Given the description of an element on the screen output the (x, y) to click on. 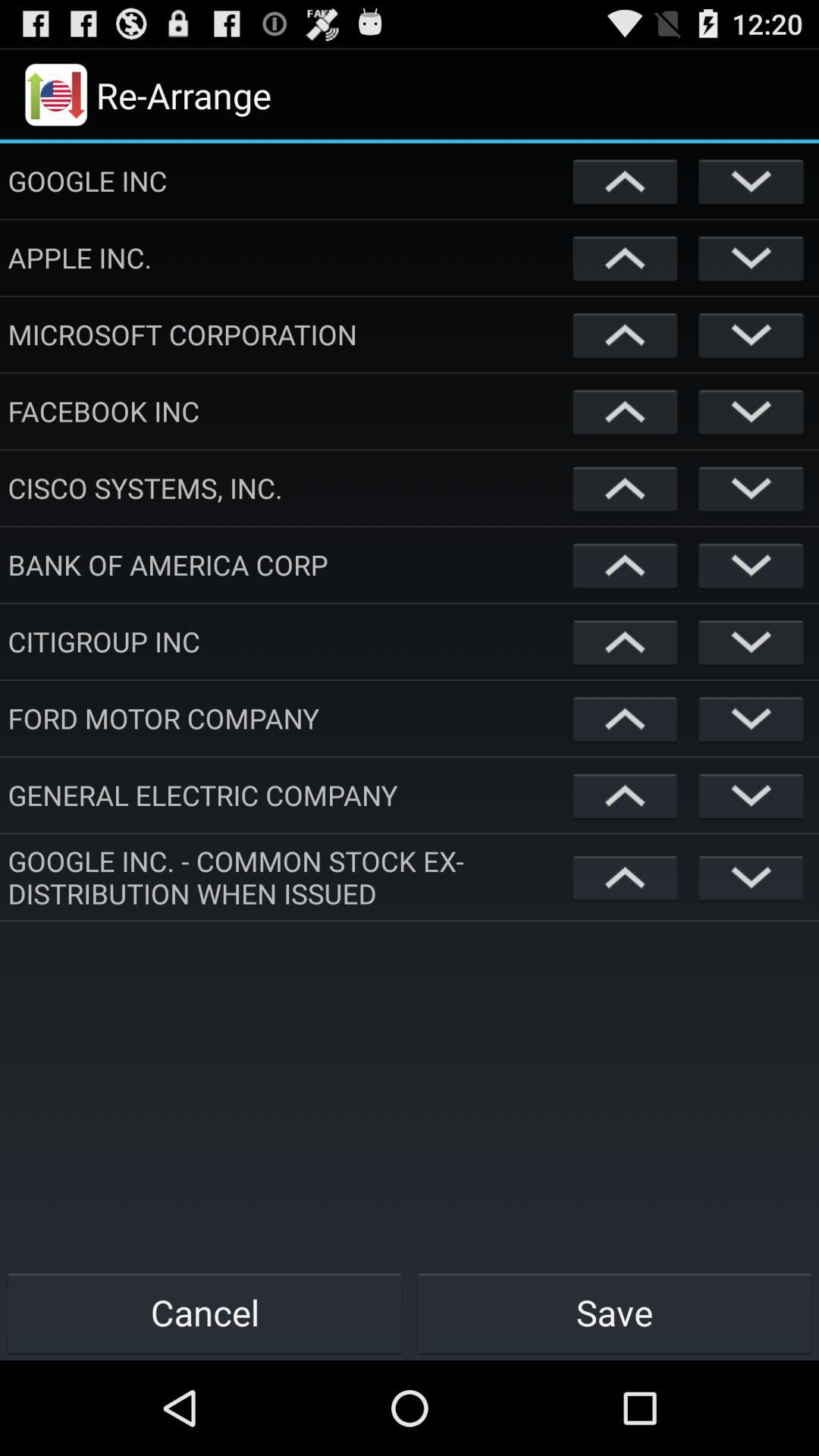
toggle select option (751, 718)
